Given the description of an element on the screen output the (x, y) to click on. 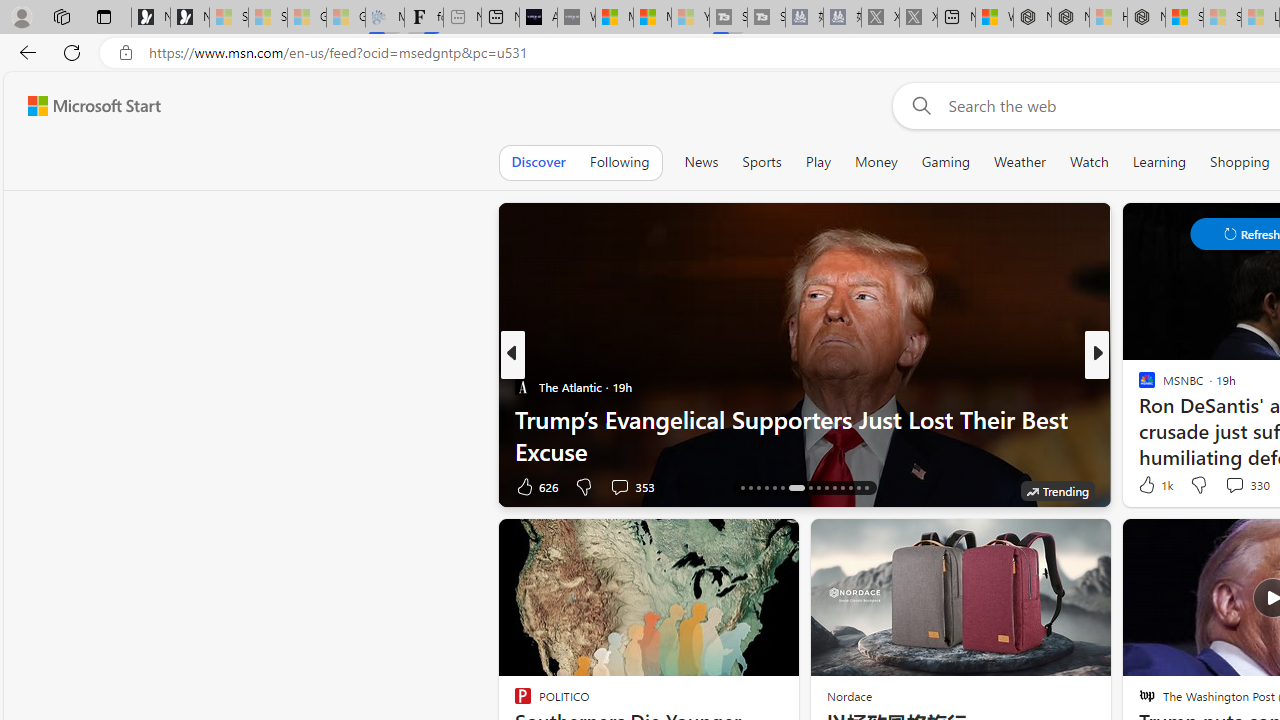
ABC News (1138, 386)
